Given the description of an element on the screen output the (x, y) to click on. 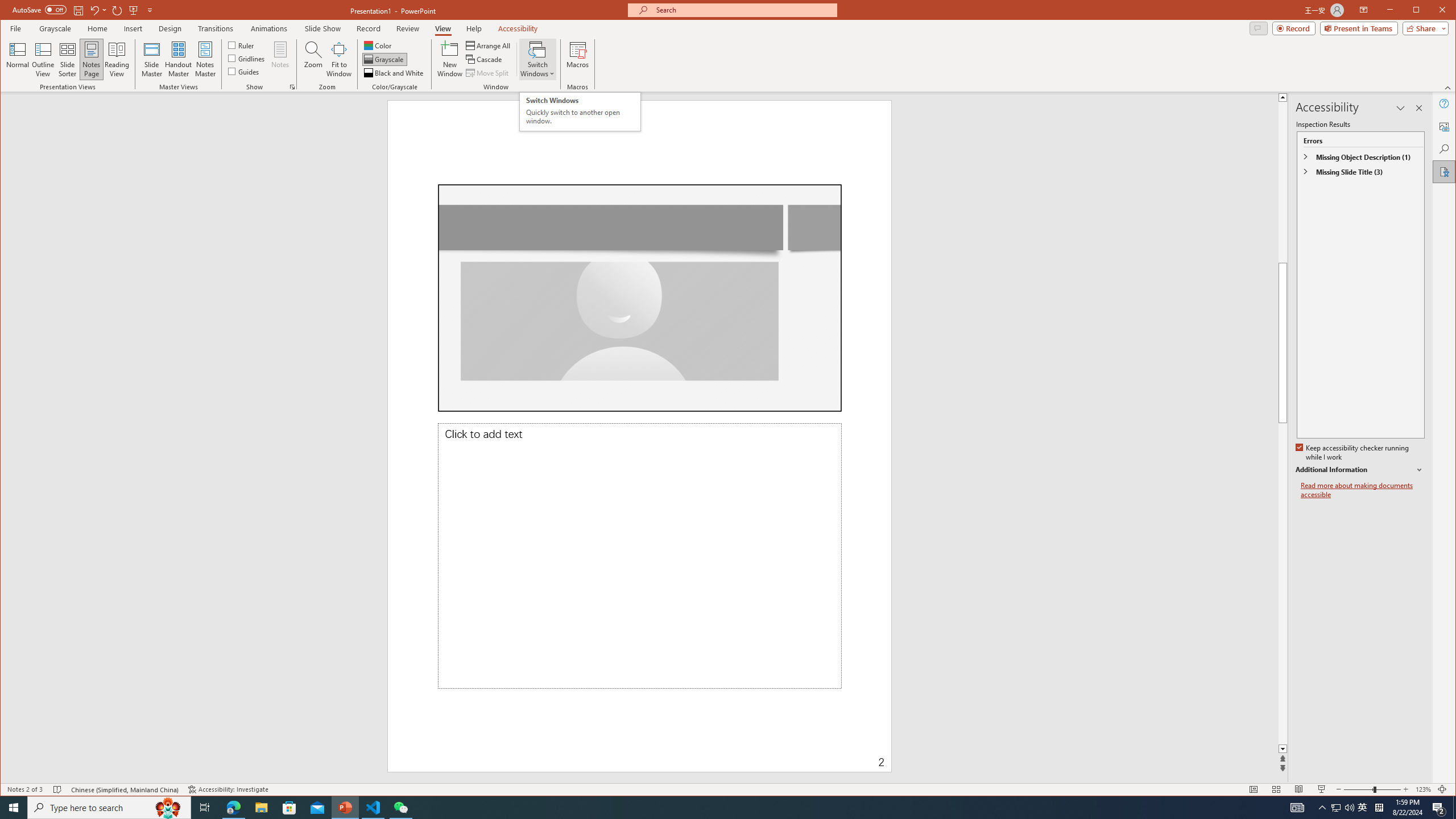
Running applications (707, 807)
Maximize (1432, 11)
Outline View (42, 59)
Ruler (241, 44)
